Given the description of an element on the screen output the (x, y) to click on. 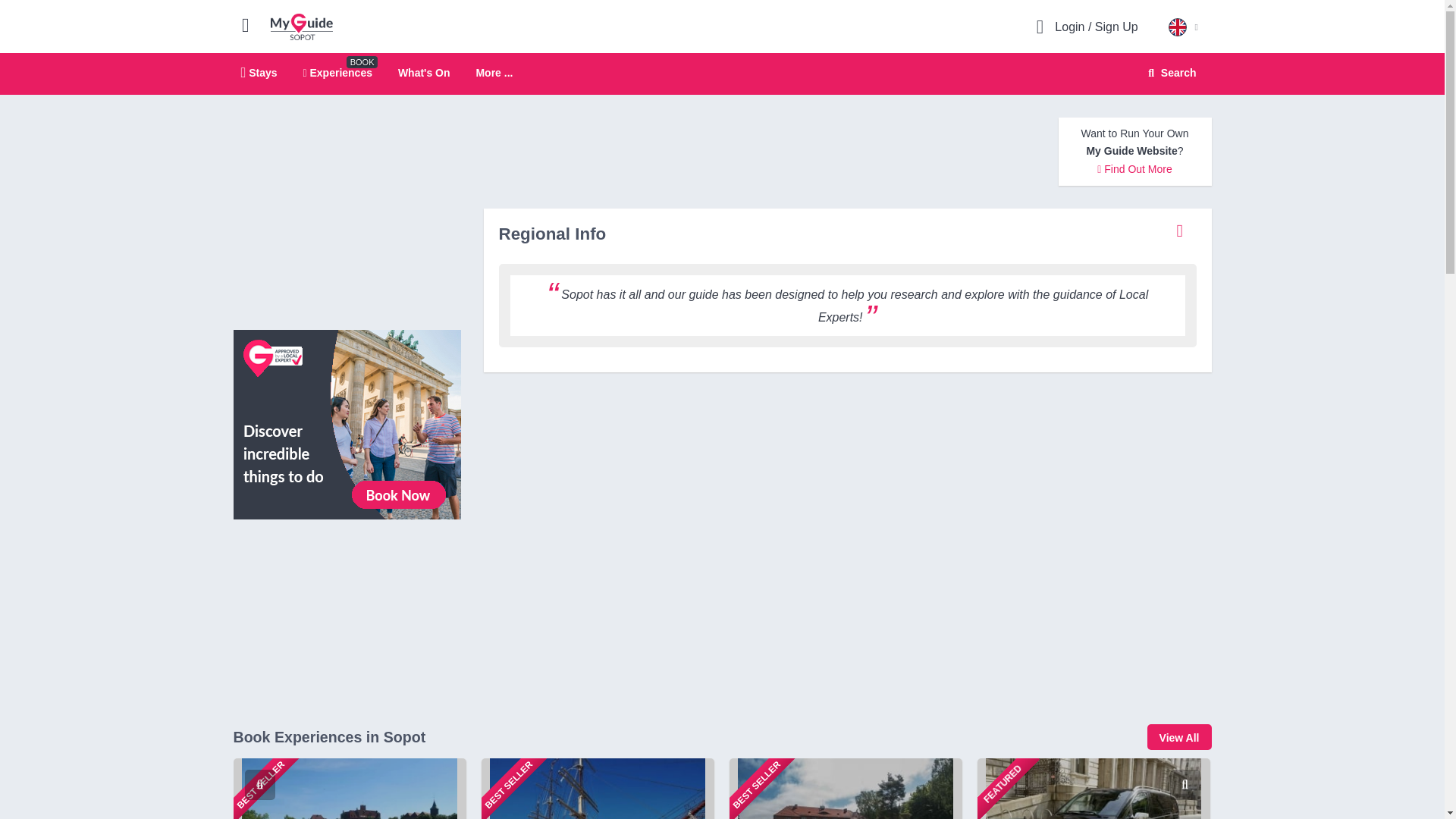
Stays (259, 72)
GetYourGuide Widget (346, 599)
What's On (721, 74)
More ... (423, 72)
View All Experiences (494, 72)
Experiences (346, 423)
Search (337, 72)
My Guide Sopot (1169, 72)
